Given the description of an element on the screen output the (x, y) to click on. 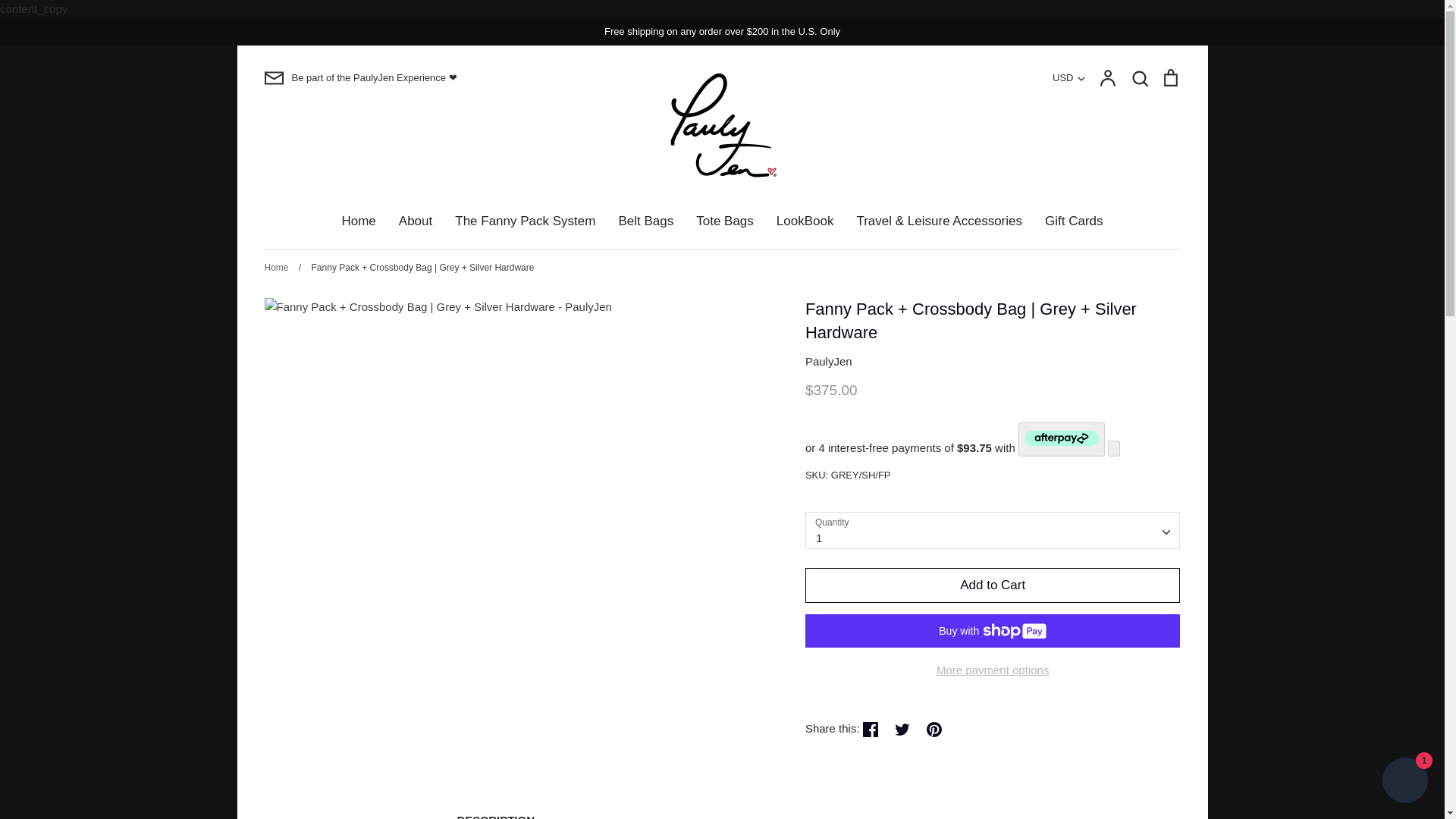
The Fanny Pack System (524, 220)
About (415, 220)
Search (1139, 77)
1 (992, 529)
Shopify online store chat (1404, 781)
Cart (1169, 77)
Home (357, 220)
Account (1107, 77)
